Given the description of an element on the screen output the (x, y) to click on. 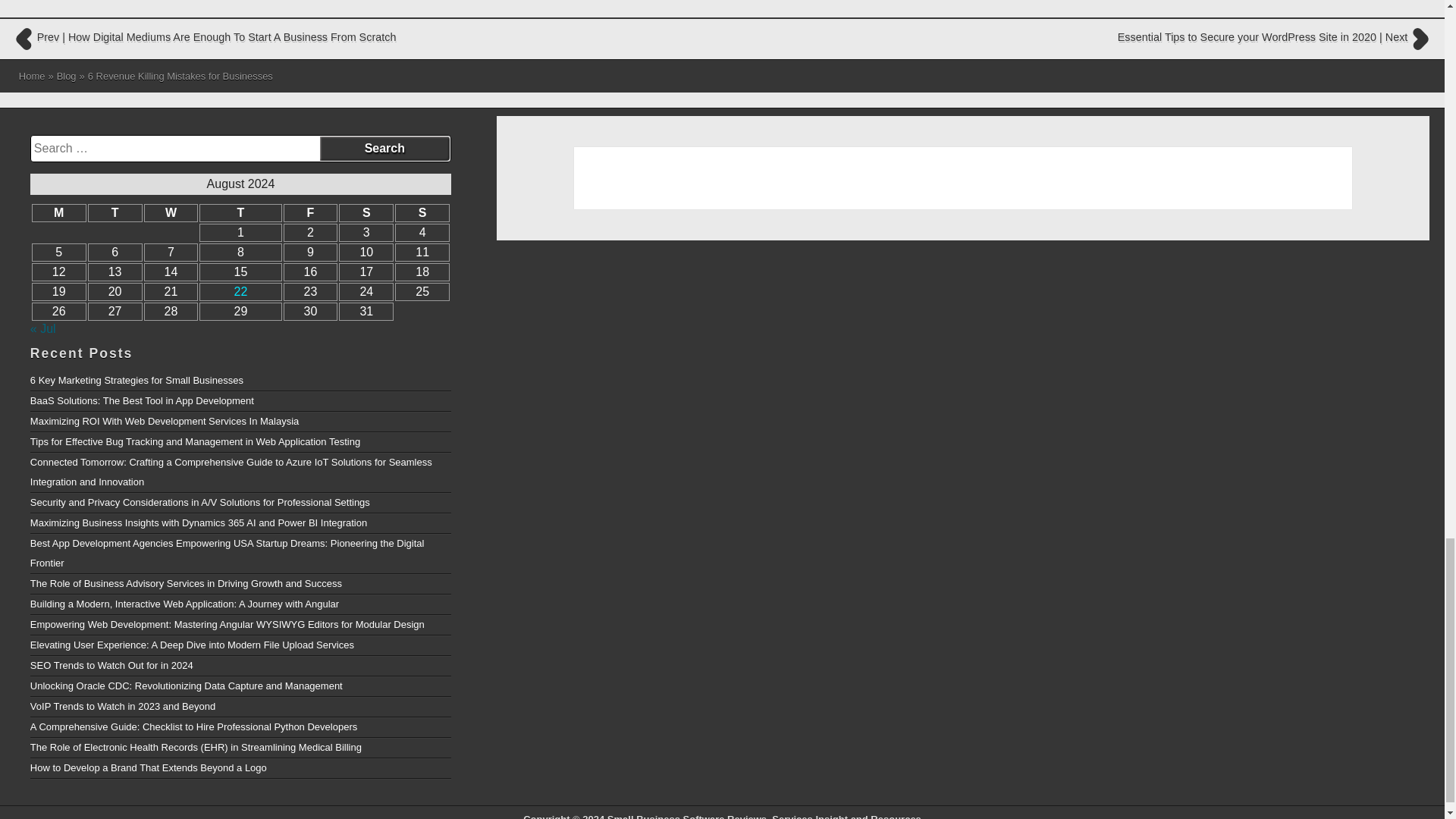
Home (31, 75)
22 (240, 291)
Search (384, 148)
Blog (66, 75)
Tuesday (114, 212)
Friday (310, 212)
